Given the description of an element on the screen output the (x, y) to click on. 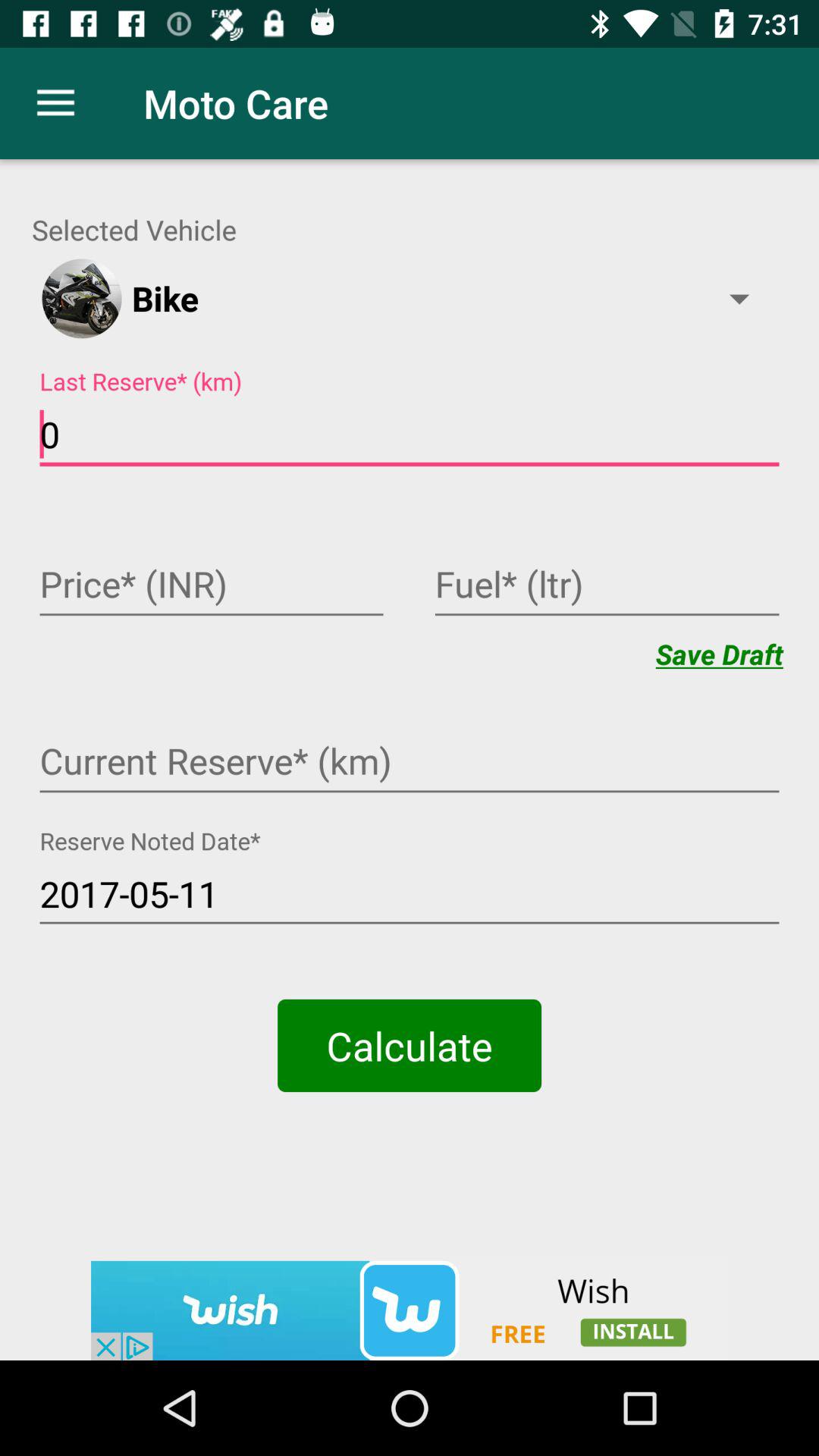
click on the current reserve field (409, 762)
click on save draft (719, 654)
click on 20170511 (409, 894)
